Given the description of an element on the screen output the (x, y) to click on. 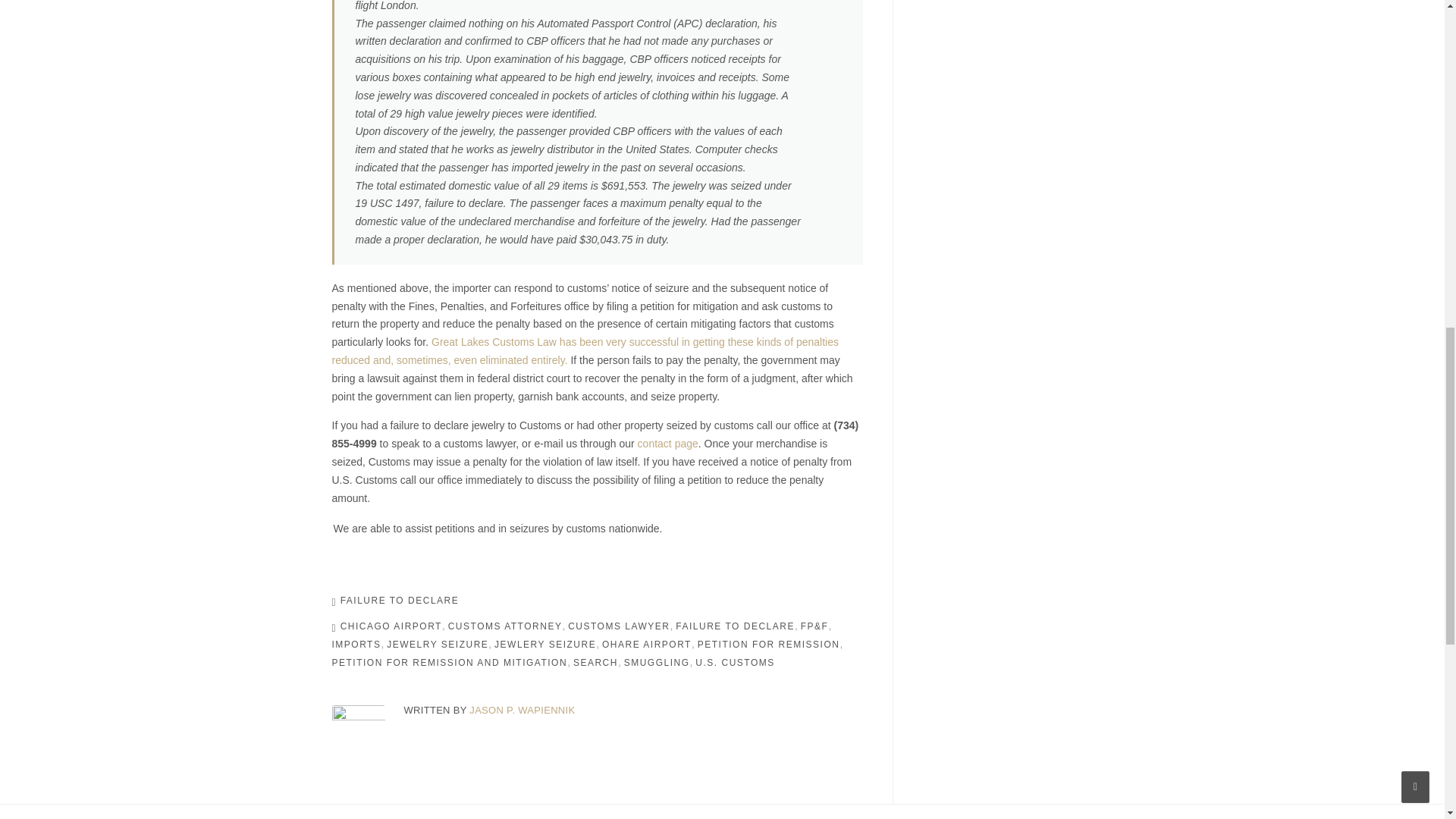
Contact (667, 443)
Penalty and Liquidated Damages Case Outcomes (584, 350)
